Given the description of an element on the screen output the (x, y) to click on. 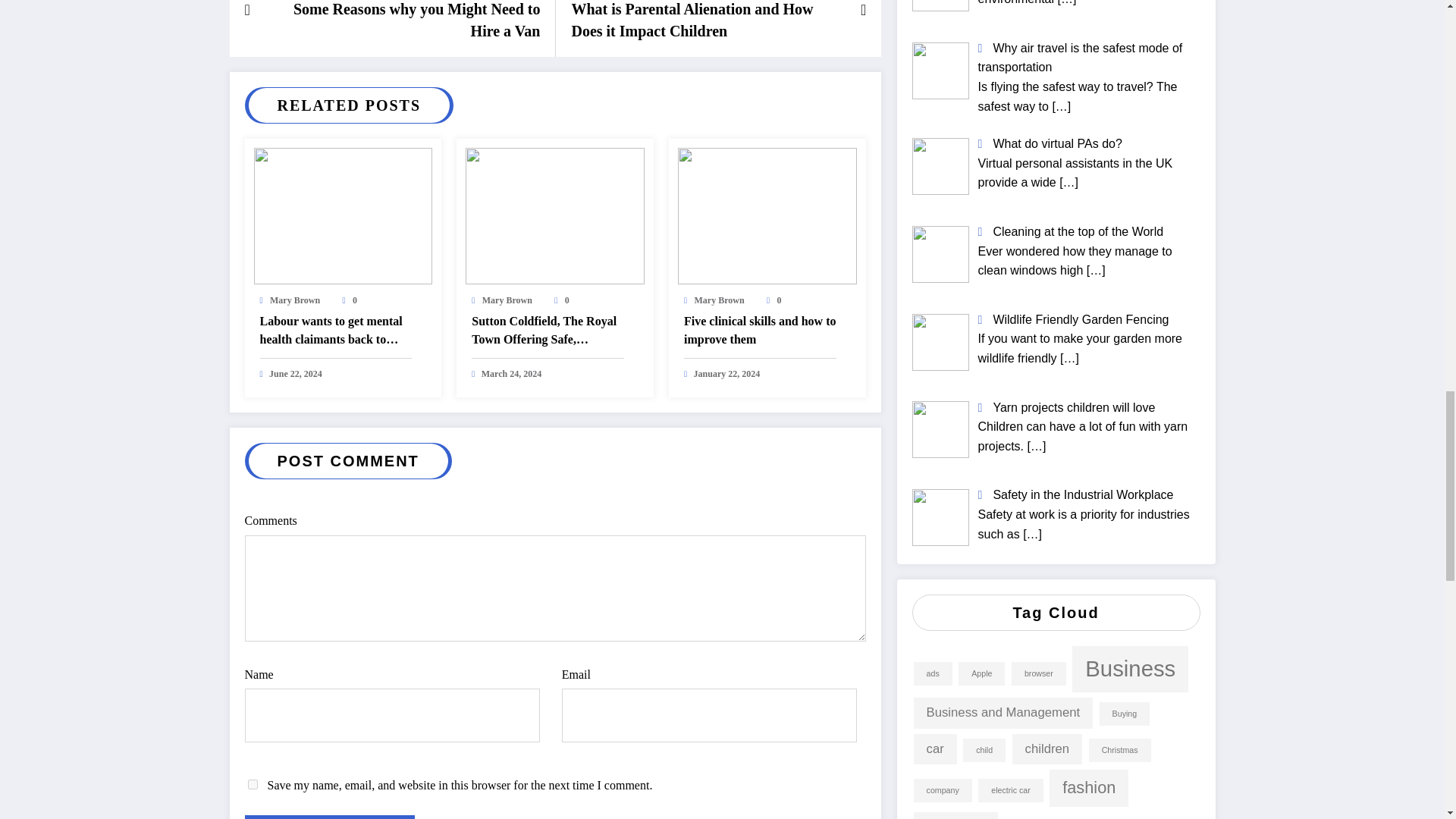
Some Reasons why you Might Need to Hire a Van (403, 20)
Post Comment (329, 816)
yes (252, 784)
